Given the description of an element on the screen output the (x, y) to click on. 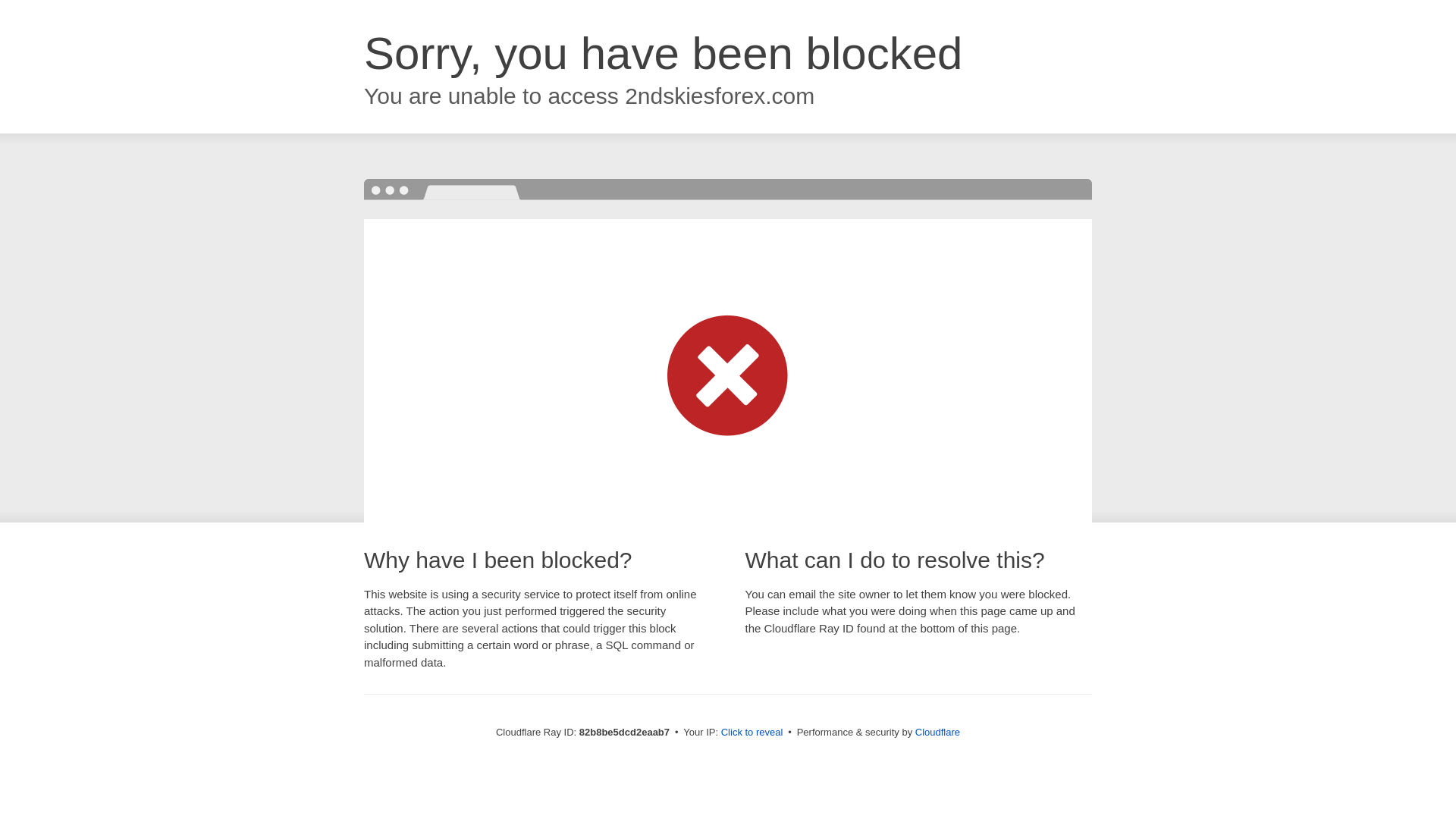
Cloudflare Element type: text (937, 731)
Click to reveal Element type: text (752, 732)
